Given the description of an element on the screen output the (x, y) to click on. 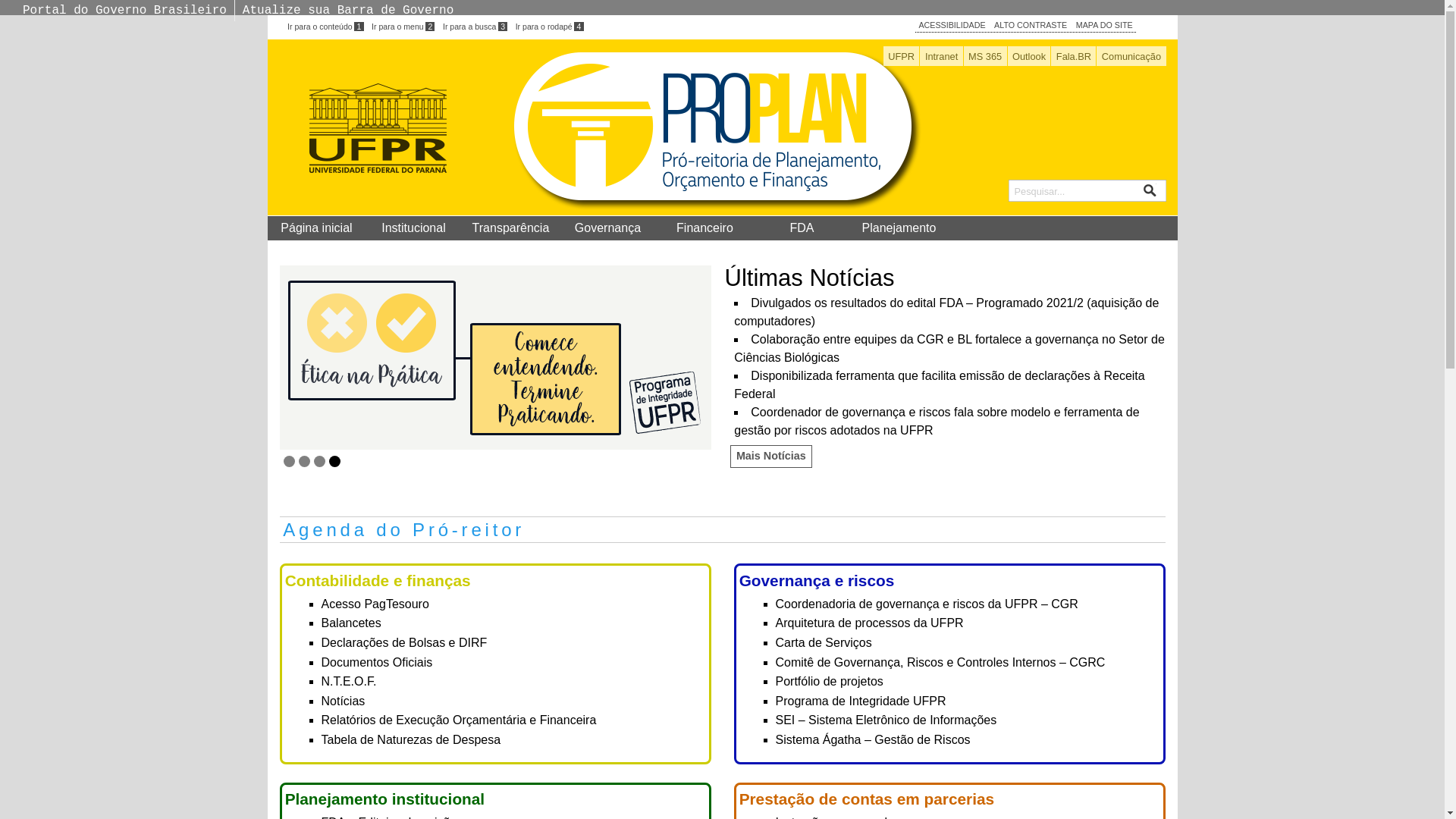
2 Element type: text (304, 461)
Programa de Integridade UFPR Element type: text (860, 700)
ACESSIBILIDADE Element type: text (951, 24)
Ir para a busca3 Element type: text (475, 26)
Documentos Oficiais Element type: text (377, 661)
MAPA DO SITE Element type: text (1103, 24)
3 Element type: text (319, 461)
ALTO CONTRASTE Element type: text (1030, 24)
N.T.E.O.F. Element type: text (348, 680)
Acesso PagTesouro Element type: text (375, 603)
Intranet Element type: text (940, 55)
FDA Element type: text (801, 228)
Tabela de Naturezas de Despesa Element type: text (411, 739)
Atualize sua Barra de Governo Element type: text (347, 10)
Planejamento Element type: text (898, 228)
Financeiro Element type: text (704, 228)
UFPR Element type: text (901, 55)
Institucional Element type: text (412, 228)
4 Element type: text (334, 461)
MS 365 Element type: text (985, 55)
Ir para o menu2 Element type: text (403, 26)
Portal do Governo Brasileiro Element type: text (124, 10)
Outlook Element type: text (1029, 55)
Balancetes Element type: text (351, 622)
Arquitetura de processos da UFPR Element type: text (869, 622)
1 Element type: text (288, 461)
Fala.BR Element type: text (1073, 55)
